Given the description of an element on the screen output the (x, y) to click on. 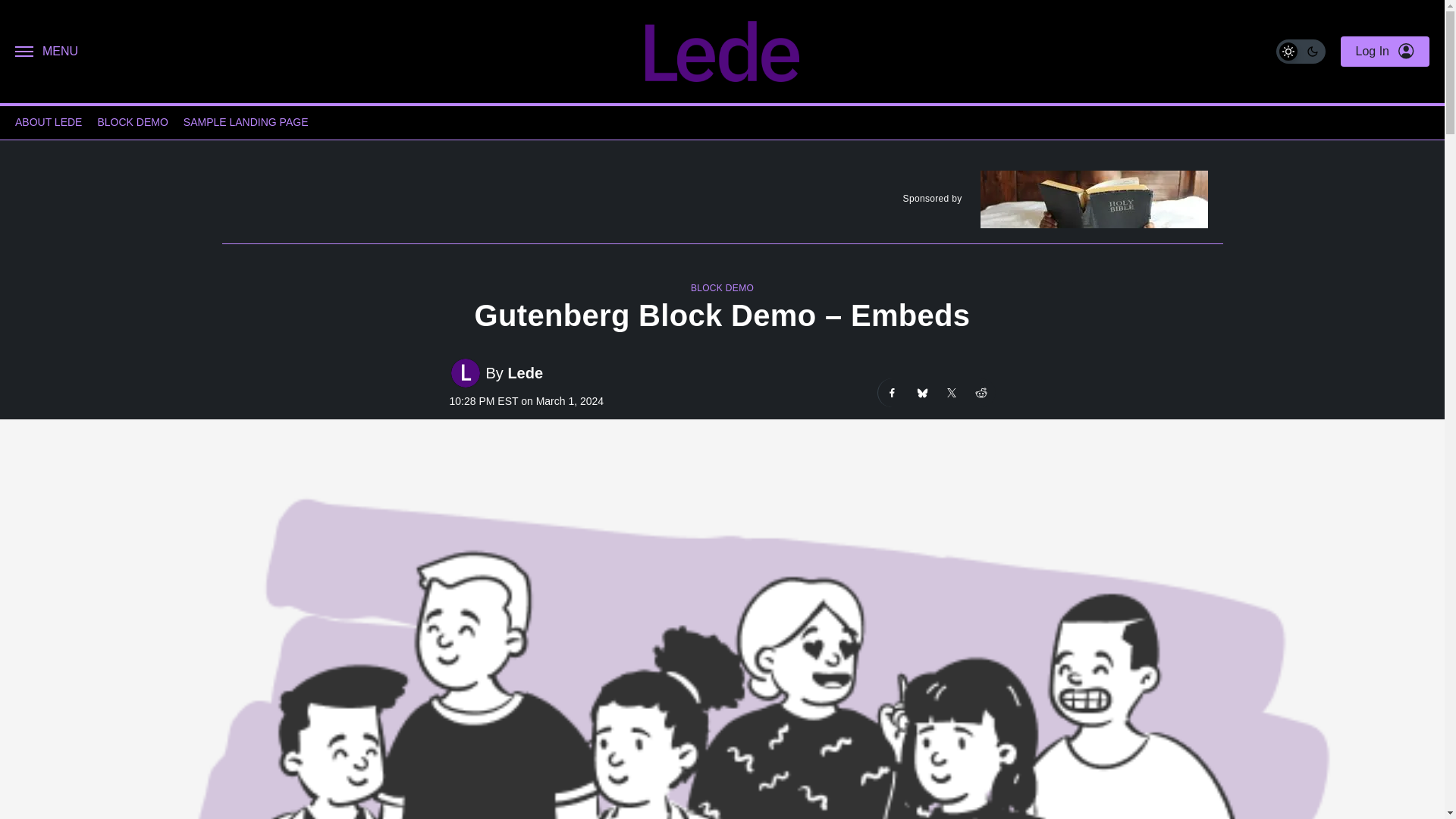
Log In (1384, 51)
MENU (46, 51)
BLOCK DEMO (132, 122)
BLOCK DEMO (722, 287)
Sponsored by (721, 202)
Lede (524, 372)
ABOUT LEDE (47, 122)
Share on Bluesky (921, 392)
SAMPLE LANDING PAGE (245, 122)
Share on Facebook (892, 392)
Share on Reddit (980, 392)
